Given the description of an element on the screen output the (x, y) to click on. 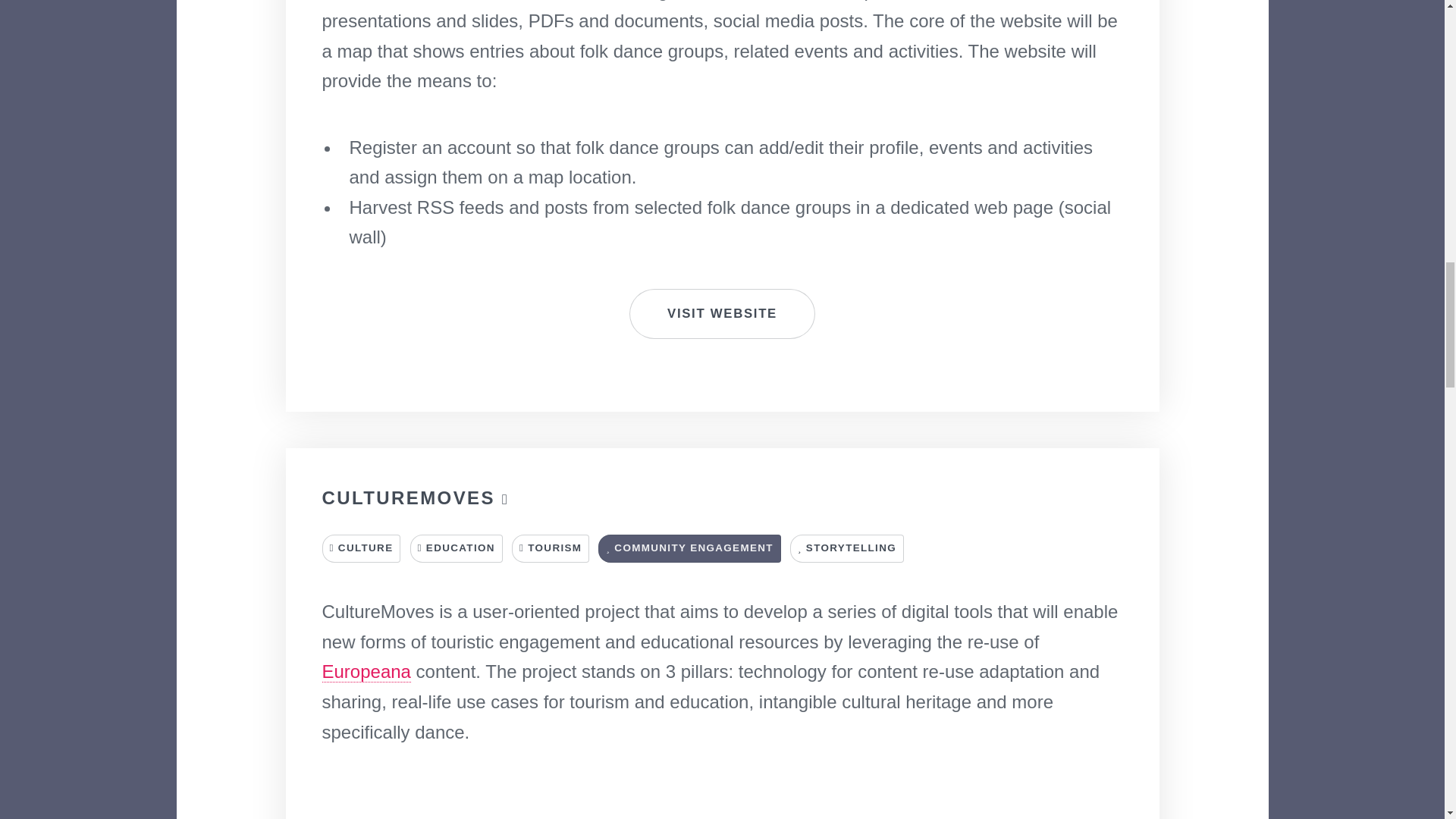
VISIT WEBSITE (721, 314)
CULTURE (360, 548)
STORYTELLING (847, 548)
COMMUNITY ENGAGEMENT (689, 548)
TOURISM (550, 548)
EDUCATION (456, 548)
Europeana (365, 671)
